Given the description of an element on the screen output the (x, y) to click on. 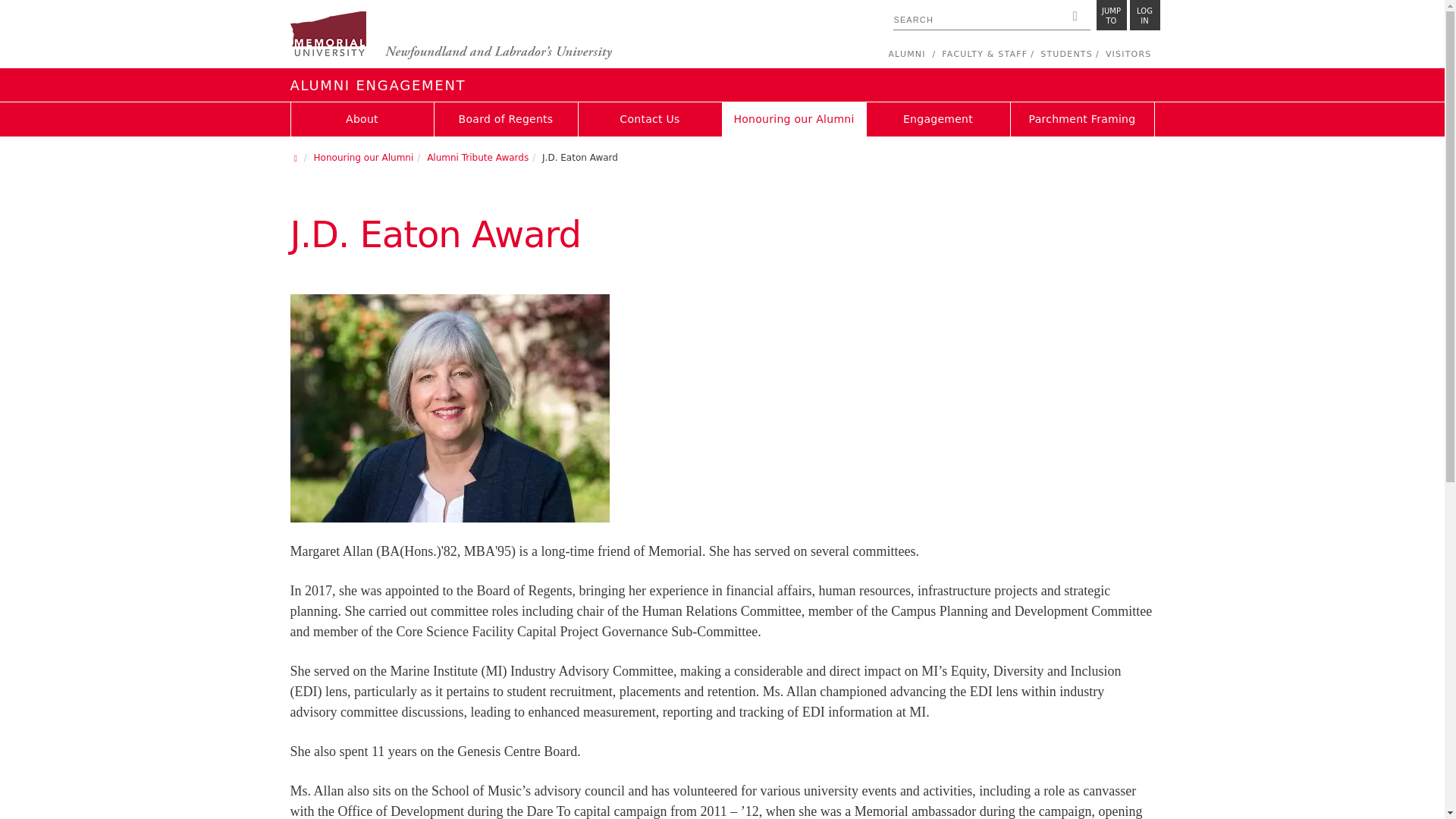
JUMP TO (1144, 15)
Memorial University (1111, 15)
Memorial University of Newfoundland (450, 35)
